Given the description of an element on the screen output the (x, y) to click on. 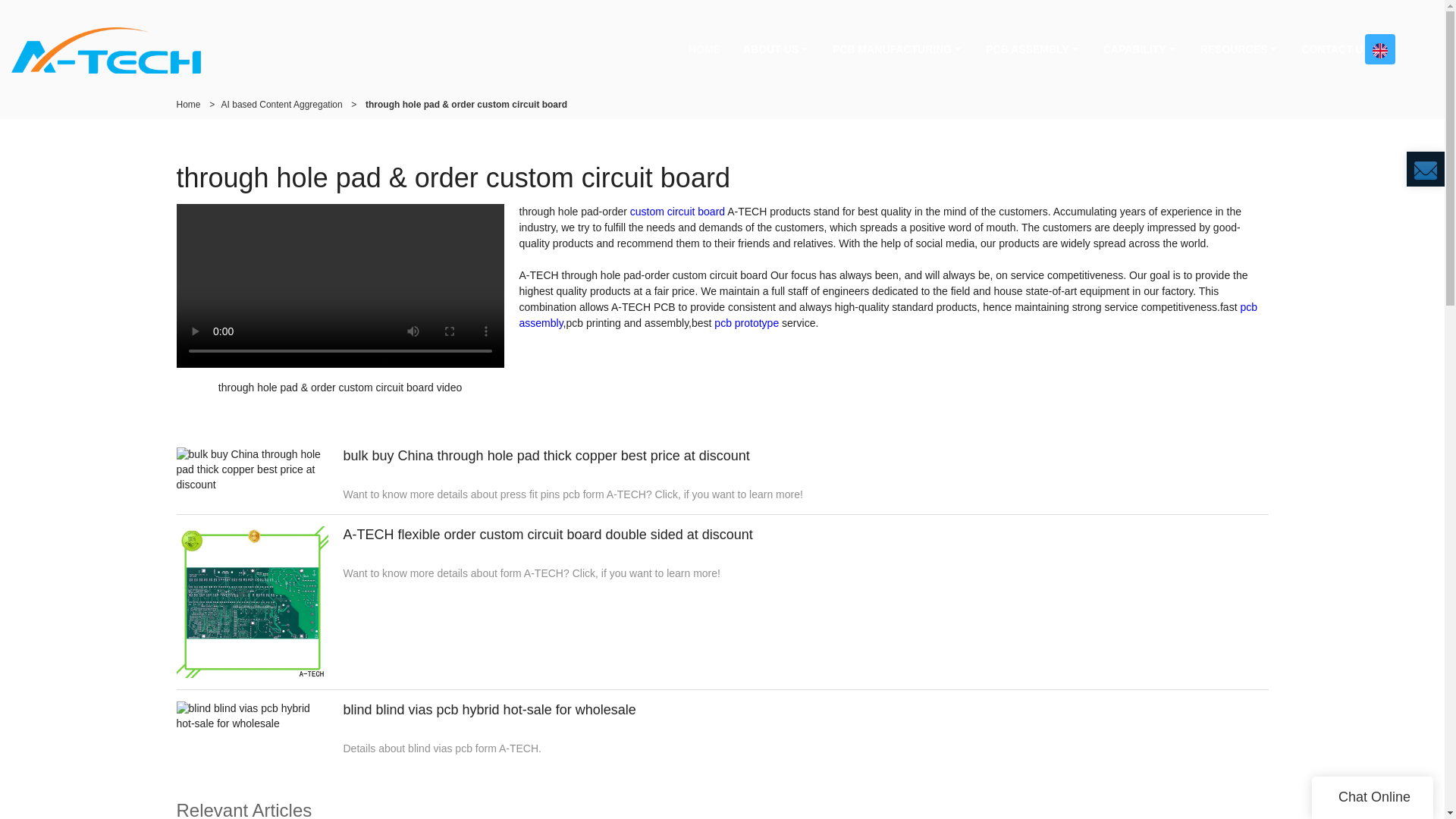
PCB ASSEMBLY (1032, 49)
Home (188, 104)
PCB MANUFACTURING (897, 49)
ABOUT US (776, 49)
CONTACT US (1335, 49)
AI based Content Aggregation (281, 104)
RESOURCES (1239, 49)
CAPABILITY (1140, 49)
